Given the description of an element on the screen output the (x, y) to click on. 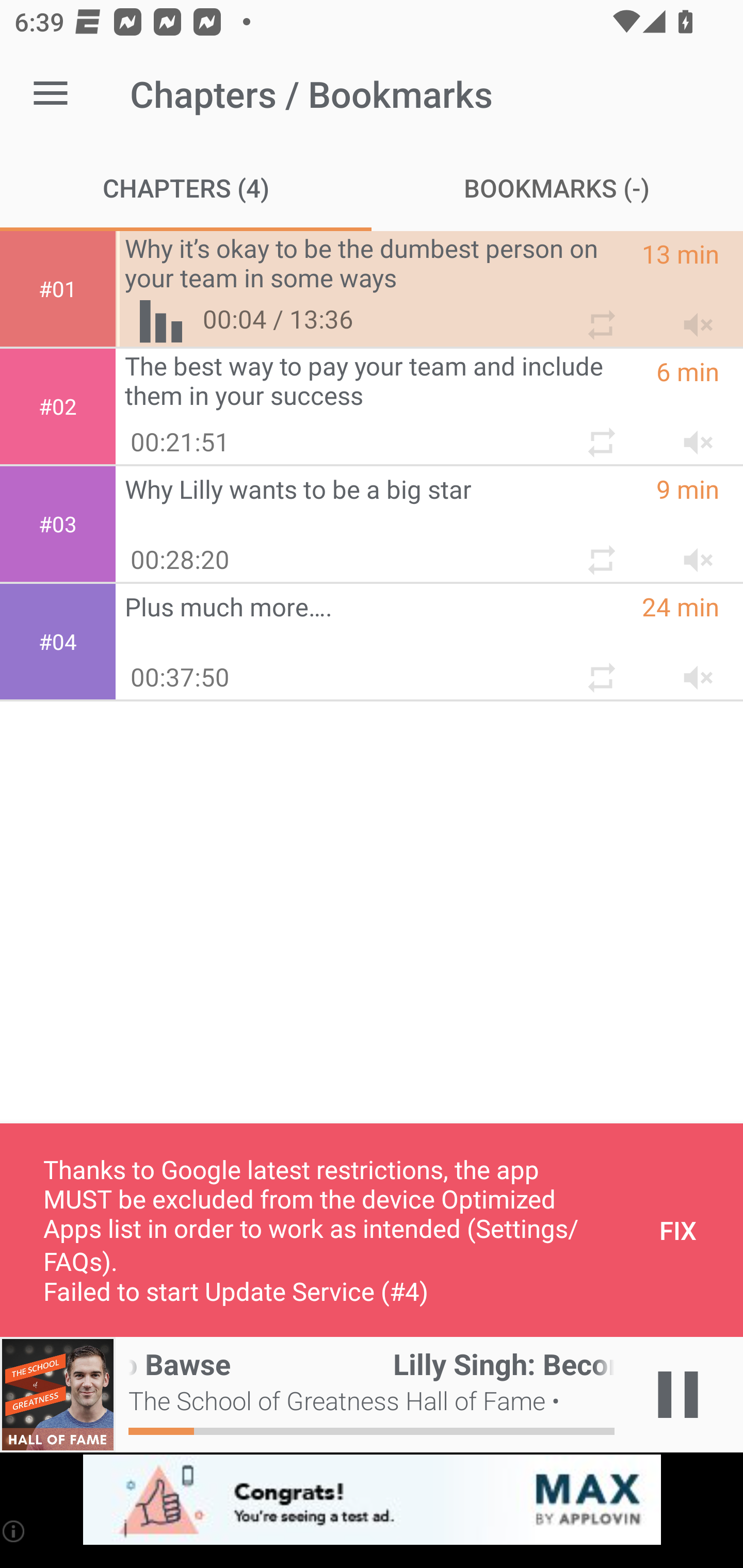
Open navigation sidebar (50, 93)
Bookmarks (-) BOOKMARKS (-) (557, 187)
Repeat chapter (599, 317)
Mute chapter (692, 317)
Repeat chapter (599, 435)
Mute chapter (692, 435)
Repeat chapter (599, 552)
Mute chapter (692, 552)
Repeat chapter (599, 670)
Mute chapter (692, 670)
FIX (677, 1229)
Play / Pause (677, 1394)
app-monetization (371, 1500)
(i) (14, 1531)
